Given the description of an element on the screen output the (x, y) to click on. 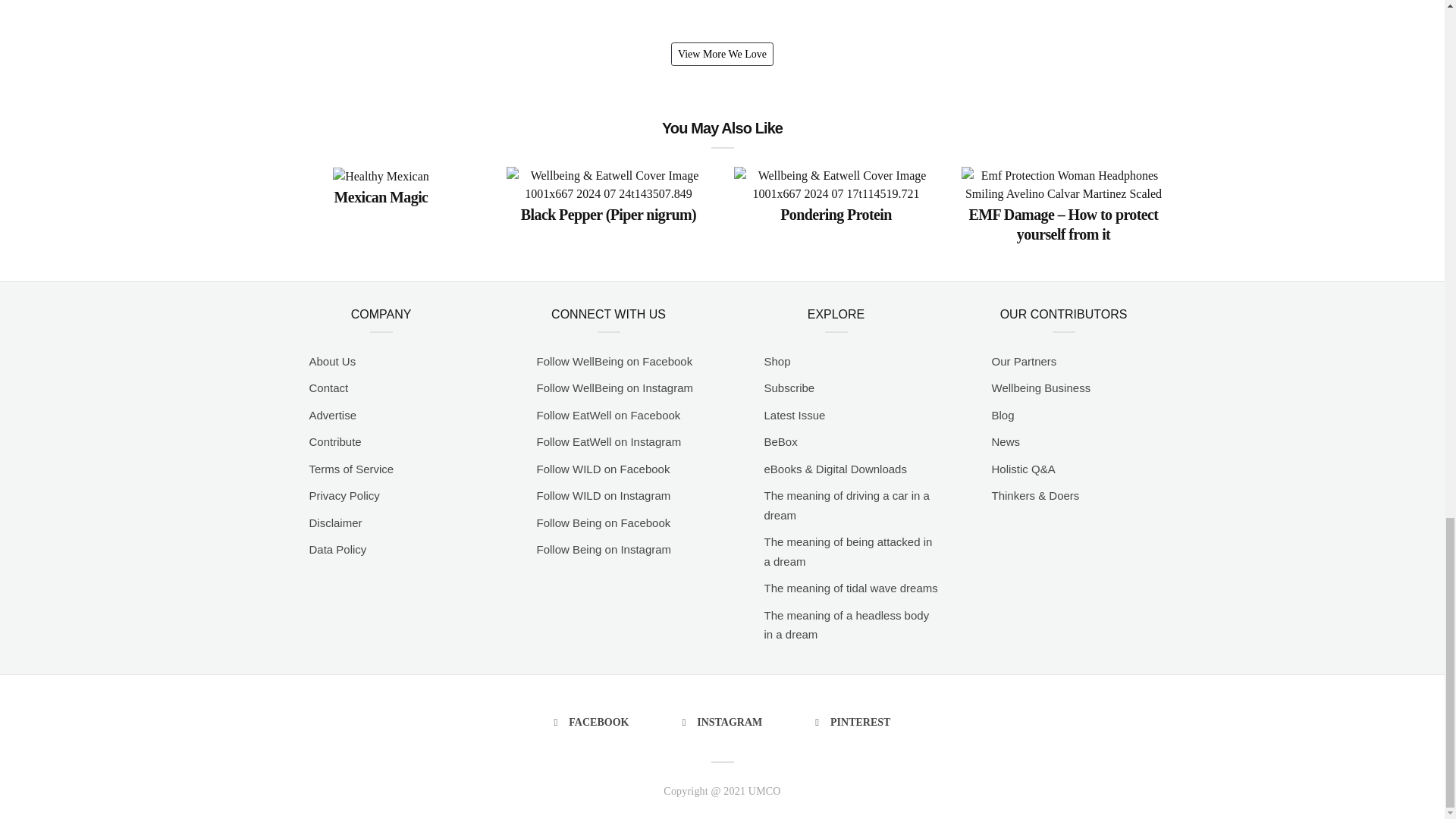
Advertise (395, 415)
Pondering Protein (835, 212)
Mexican Magic (381, 195)
View More We Love (722, 54)
Contact (395, 388)
About Us (395, 361)
